Given the description of an element on the screen output the (x, y) to click on. 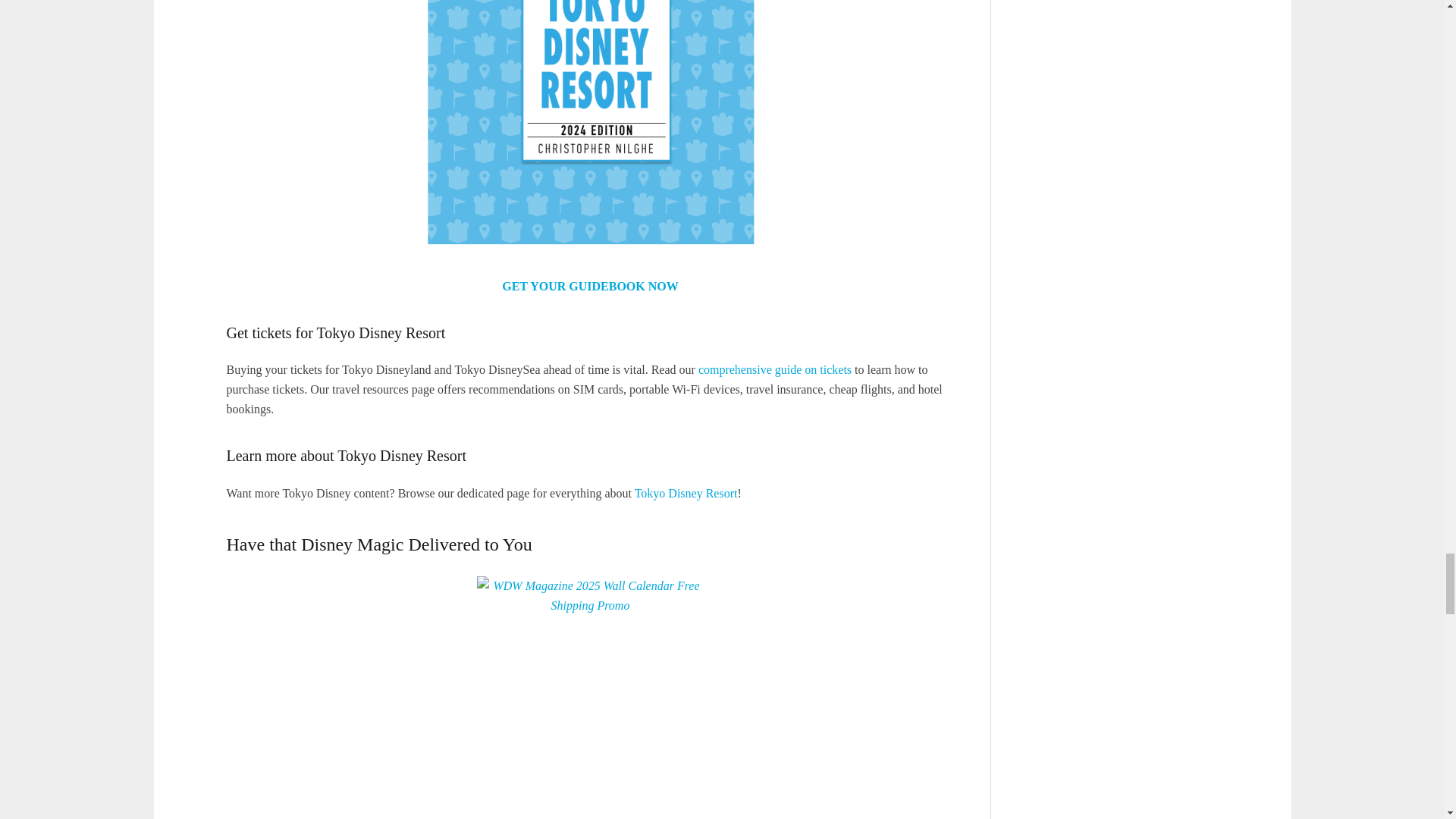
Tokyo Disney Resort (686, 492)
comprehensive guide on tickets (774, 369)
GET YOUR GUIDEBOOK NOW (590, 286)
